Given the description of an element on the screen output the (x, y) to click on. 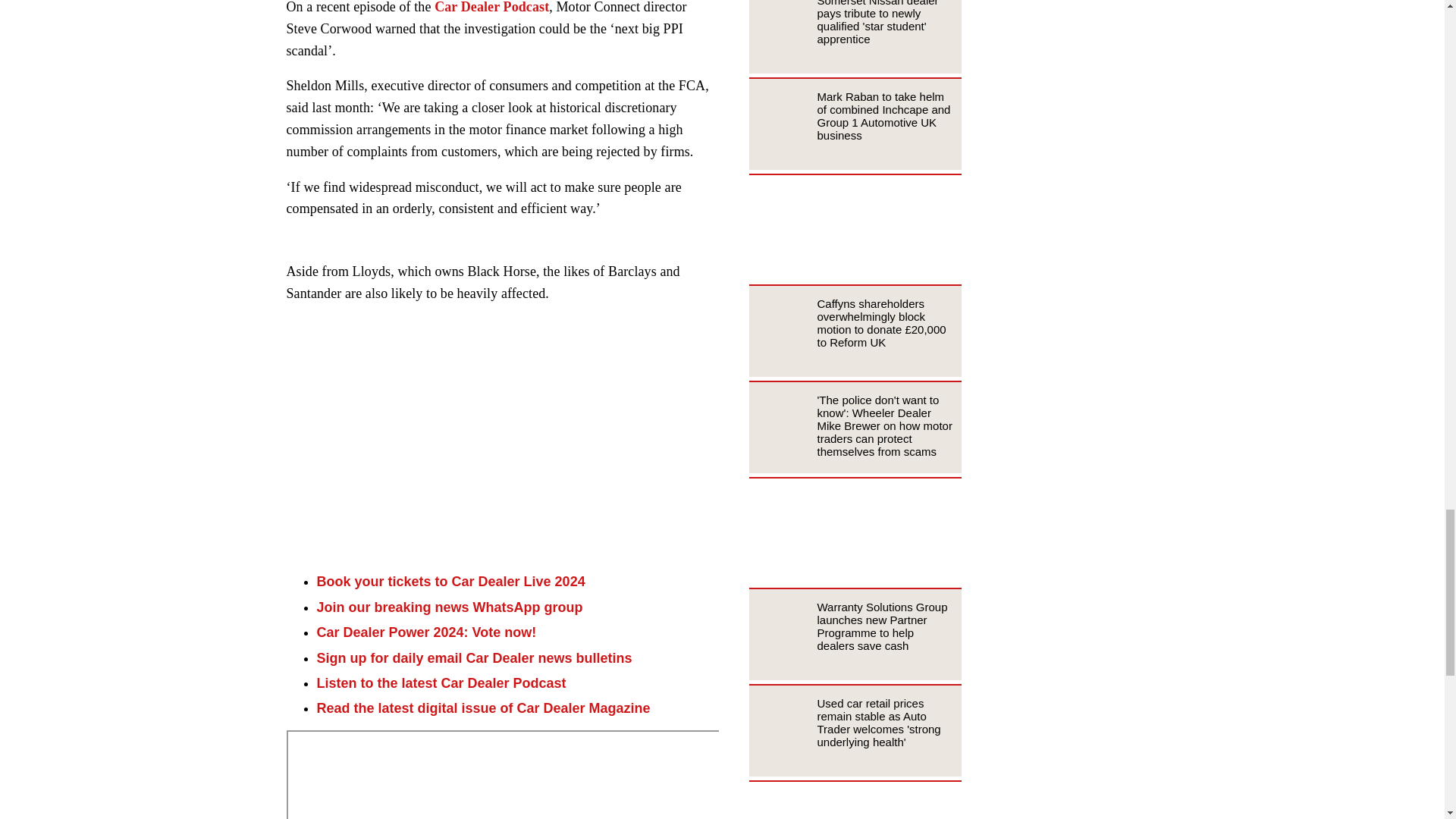
Why you'll REALLY want to be at Car Dealer Live 2024 (502, 439)
Book your tickets to Car Dealer Live 2024 (451, 581)
Car Dealer Podcast (490, 7)
